Given the description of an element on the screen output the (x, y) to click on. 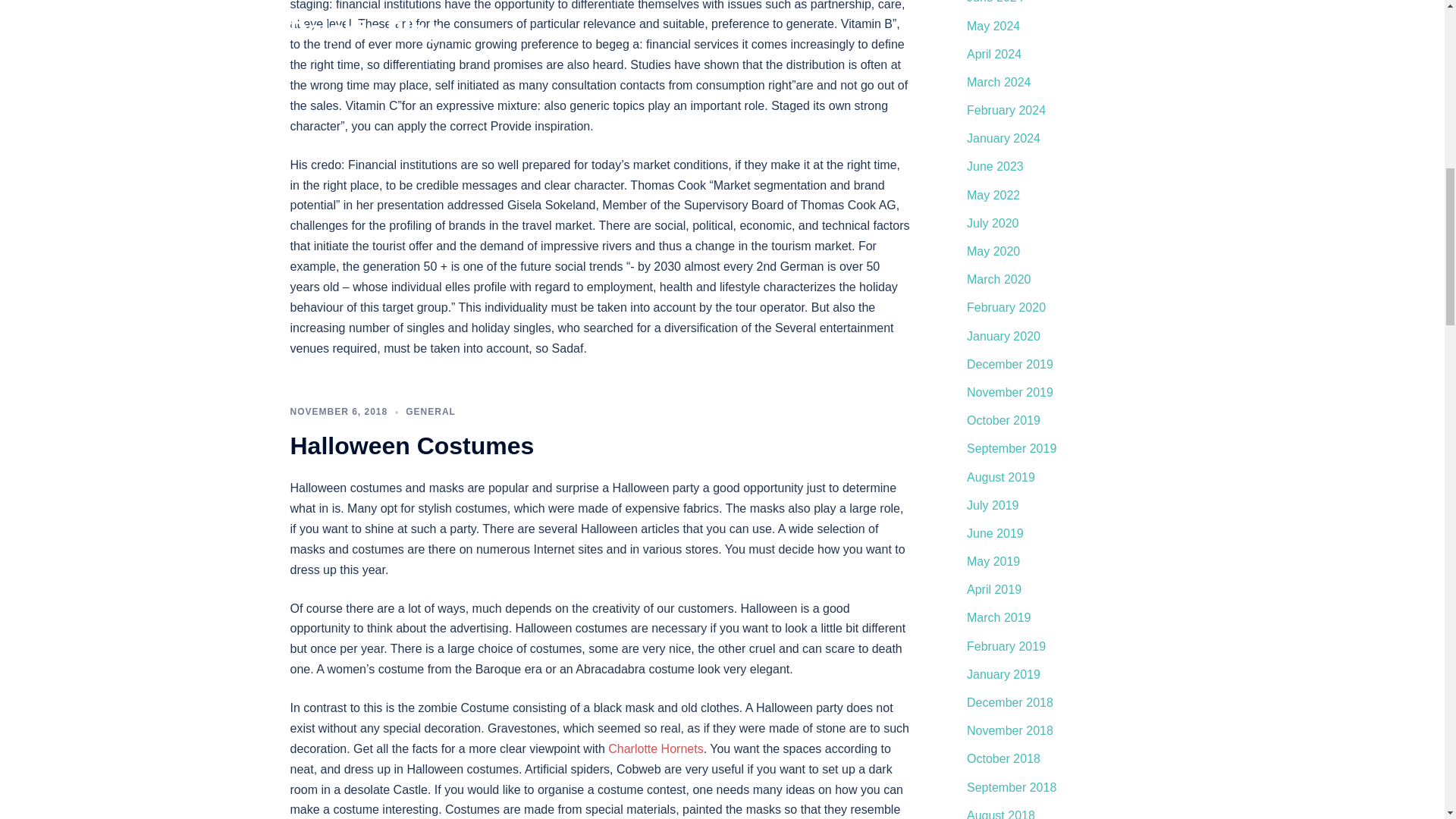
July 2019 (992, 504)
May 2020 (993, 250)
June 2019 (994, 533)
NOVEMBER 6, 2018 (338, 411)
July 2020 (992, 223)
June 2024 (994, 2)
February 2024 (1005, 110)
November 2019 (1009, 391)
March 2024 (998, 82)
Halloween Costumes (411, 445)
June 2023 (994, 165)
December 2019 (1009, 364)
September 2019 (1011, 448)
January 2024 (1003, 137)
Charlotte Hornets (655, 748)
